Given the description of an element on the screen output the (x, y) to click on. 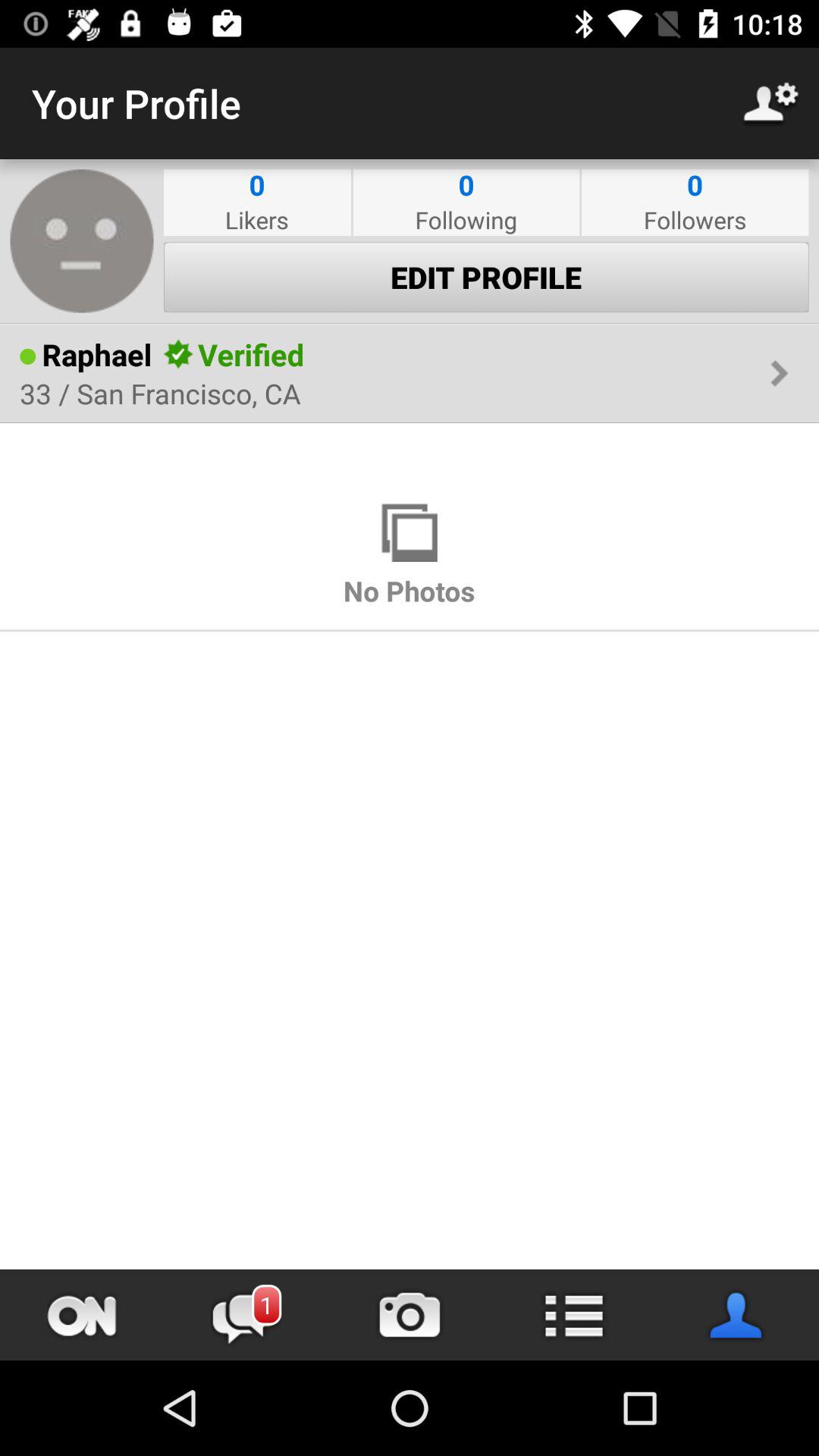
press item next to followers icon (466, 219)
